Given the description of an element on the screen output the (x, y) to click on. 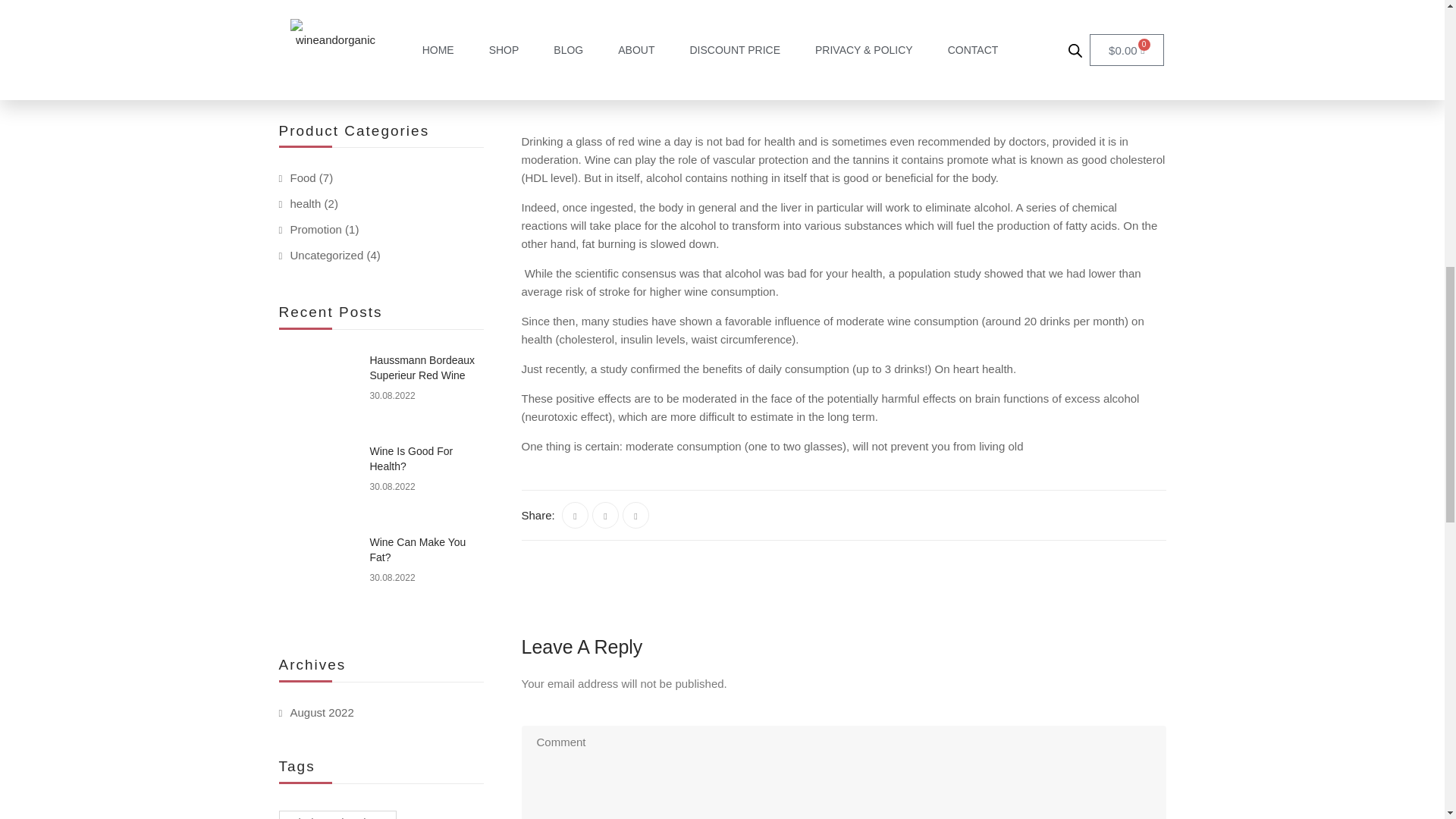
LinkedIn (636, 515)
Facebook (575, 515)
Twitter (605, 515)
